Given the description of an element on the screen output the (x, y) to click on. 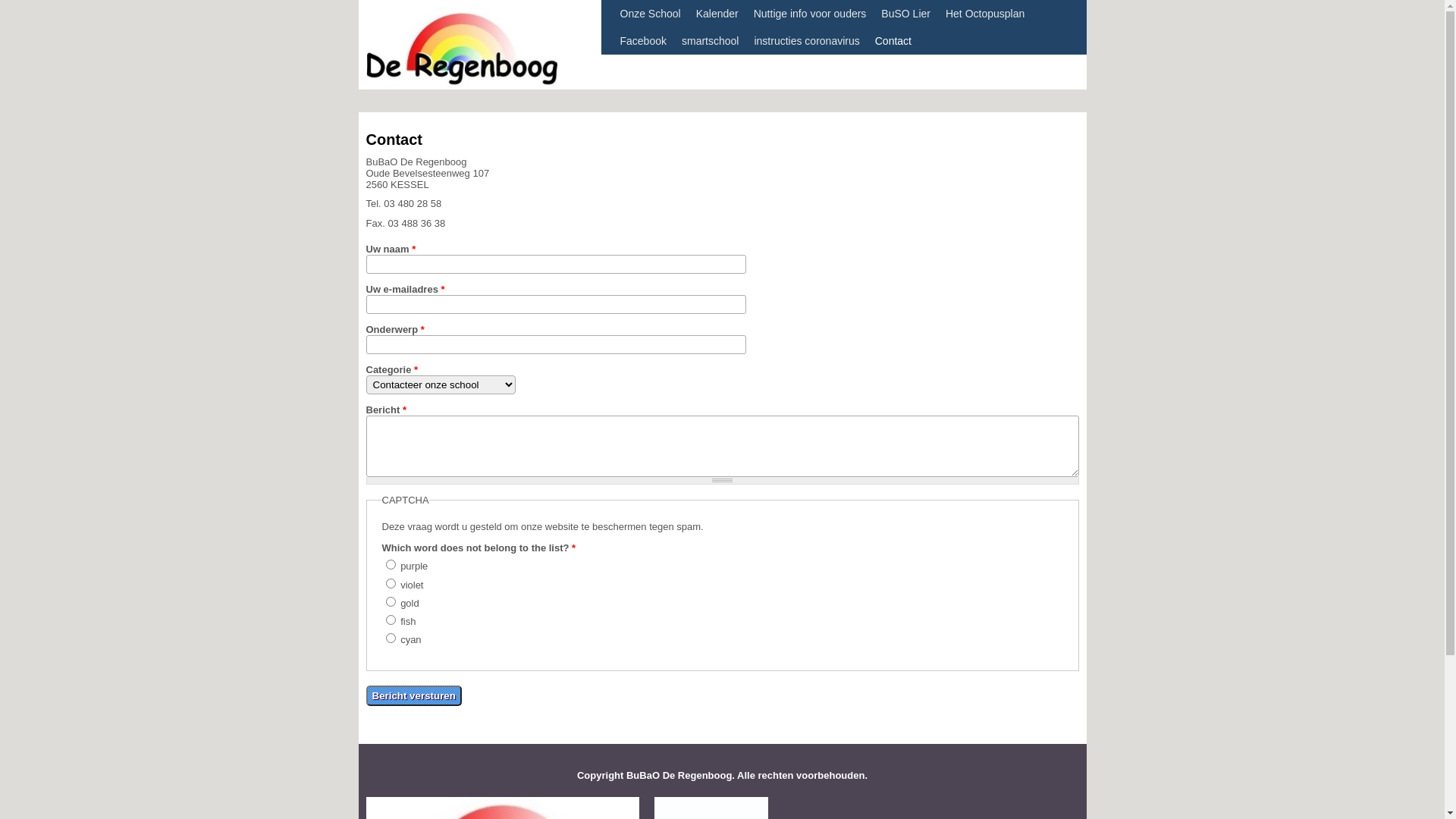
Kalender Element type: text (717, 13)
instructies coronavirus Element type: text (806, 40)
Onze School Element type: text (650, 13)
Contact Element type: text (893, 40)
Bericht versturen Element type: text (413, 695)
smartschool Element type: text (710, 40)
Nuttige info voor ouders Element type: text (810, 13)
BuSO Lier Element type: text (905, 13)
Het Octopusplan Element type: text (985, 13)
nieuw logo broeders.jpg Element type: text (457, 798)
logo.jpg Element type: text (396, 798)
Facebook Element type: text (643, 40)
Home Element type: hover (460, 83)
